Given the description of an element on the screen output the (x, y) to click on. 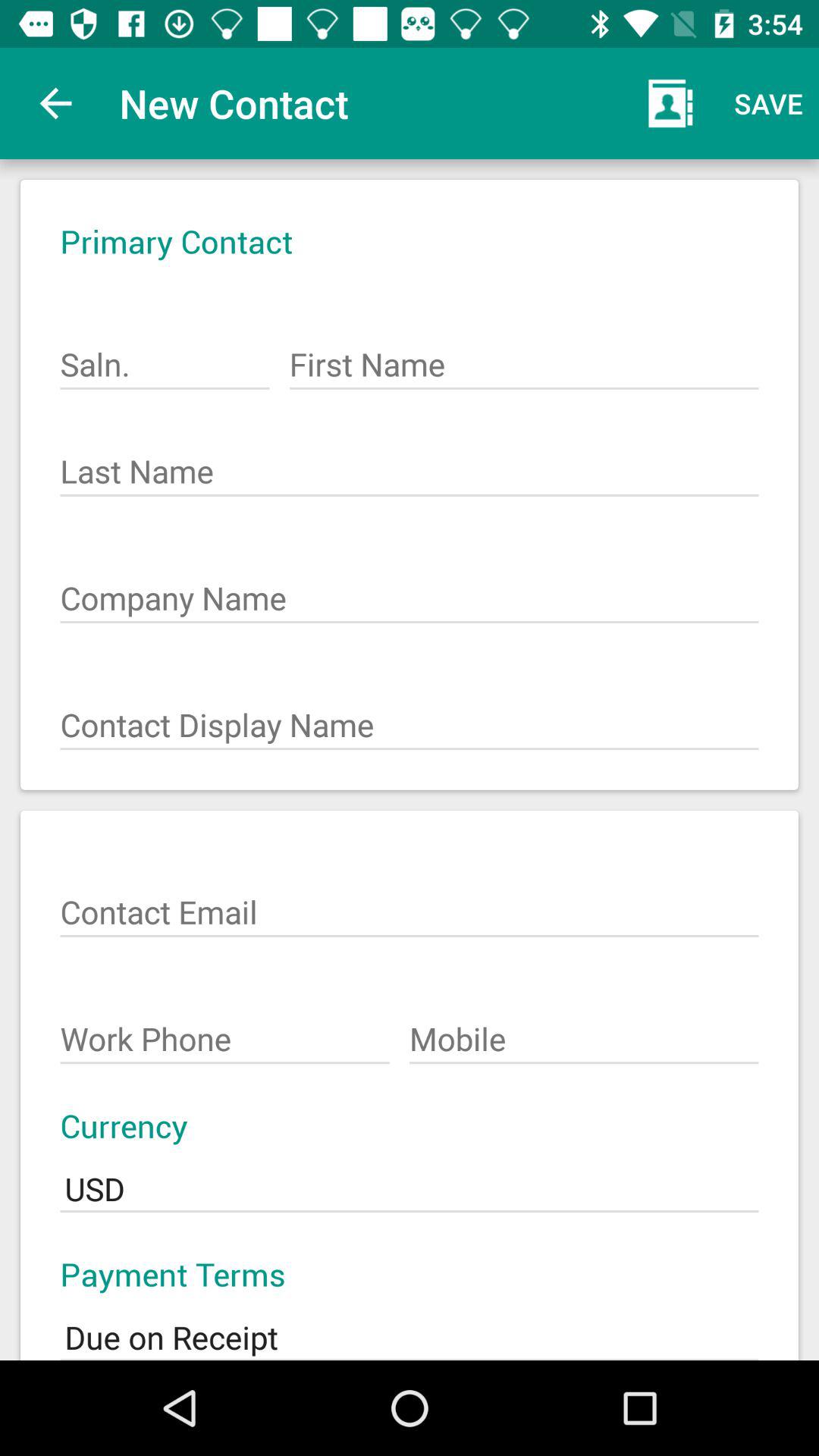
click the icon below primary contact icon (164, 356)
